Given the description of an element on the screen output the (x, y) to click on. 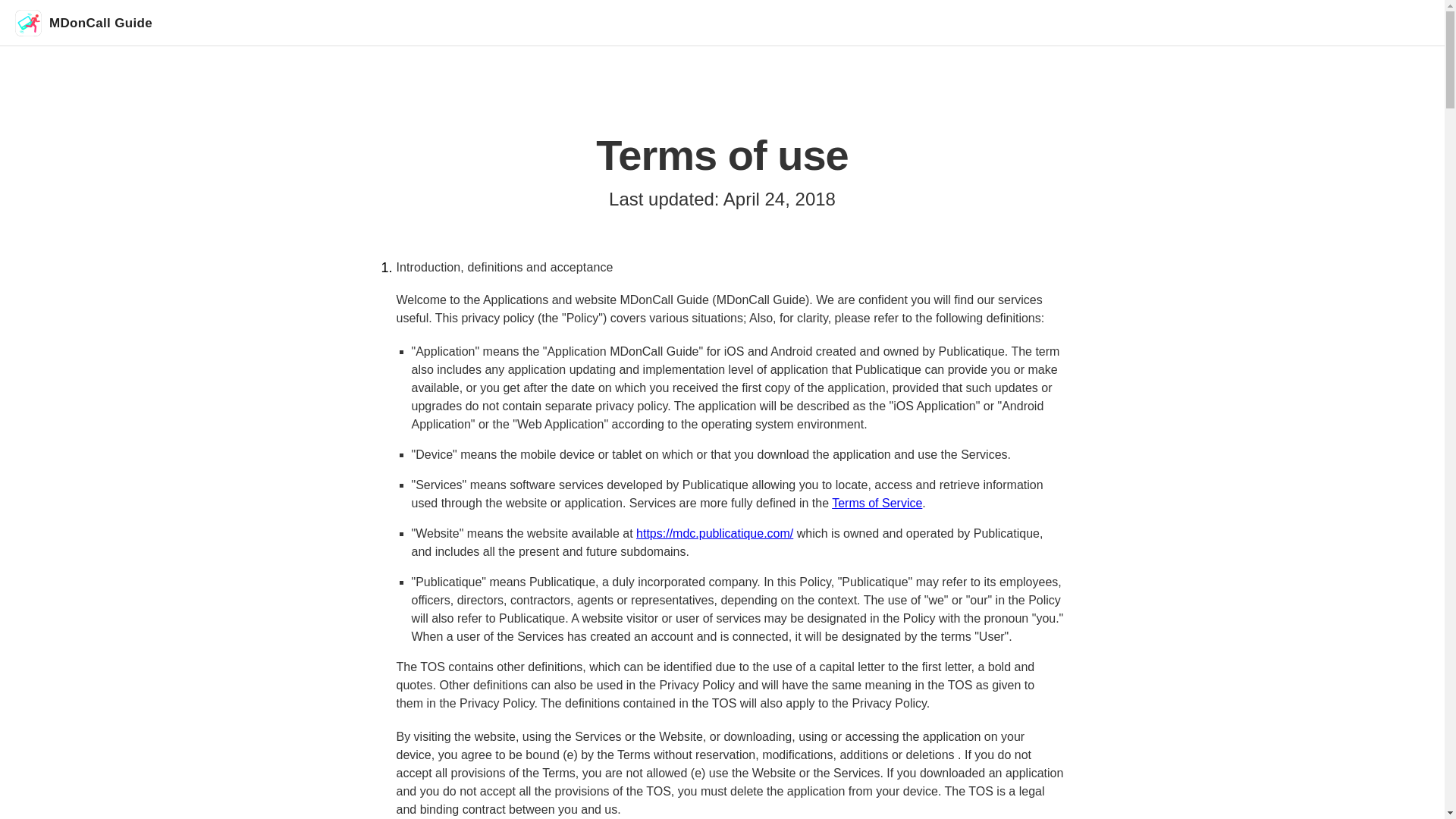
Terms of Service (876, 502)
MDonCall Guide (83, 22)
